Given the description of an element on the screen output the (x, y) to click on. 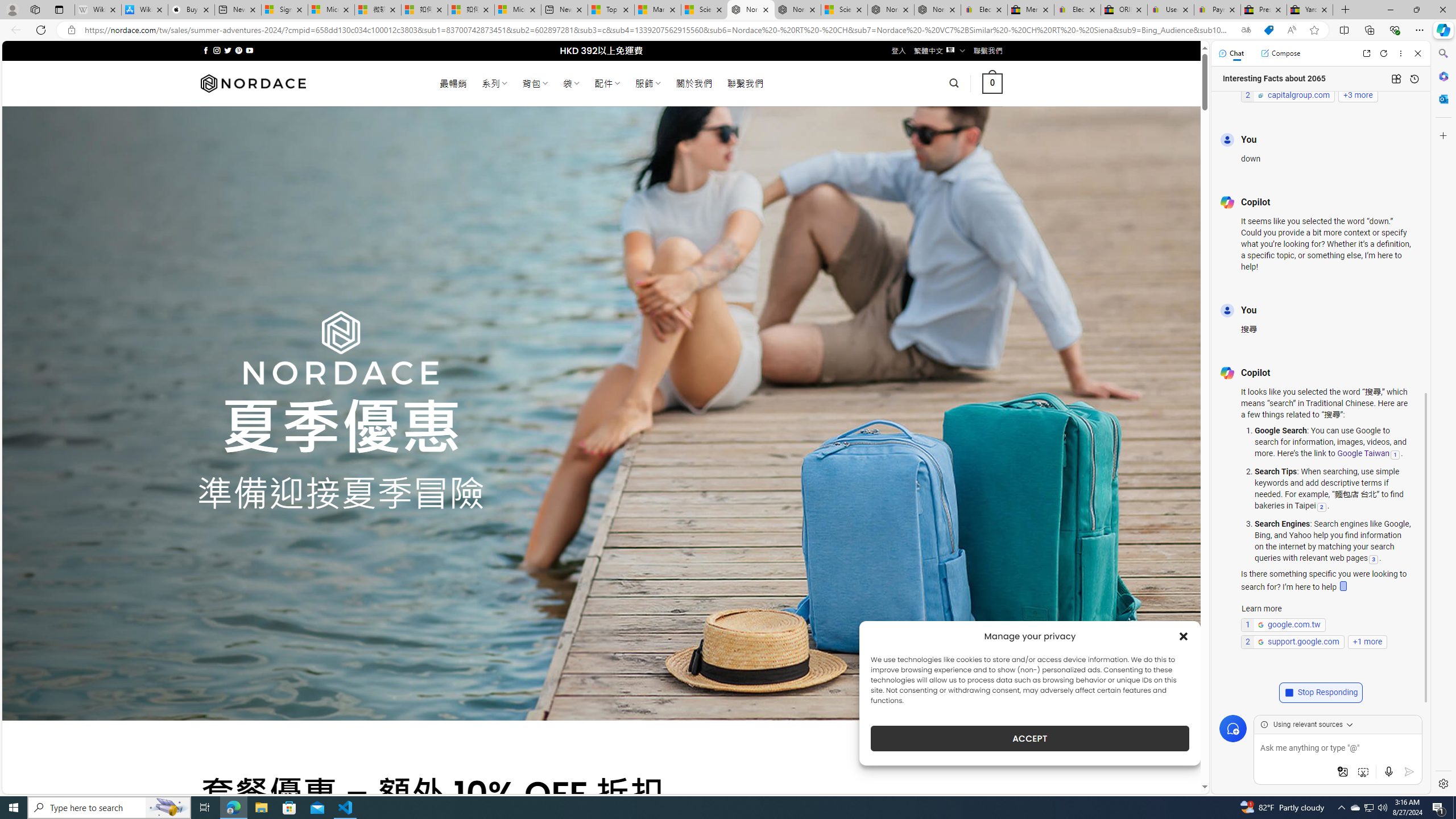
Sign in to your Microsoft account (284, 9)
  0   (992, 83)
Microsoft account | Account Checkup (517, 9)
Follow on YouTube (249, 50)
Follow on Twitter (227, 50)
Outlook (1442, 98)
Class: cmplz-close (1183, 636)
